Given the description of an element on the screen output the (x, y) to click on. 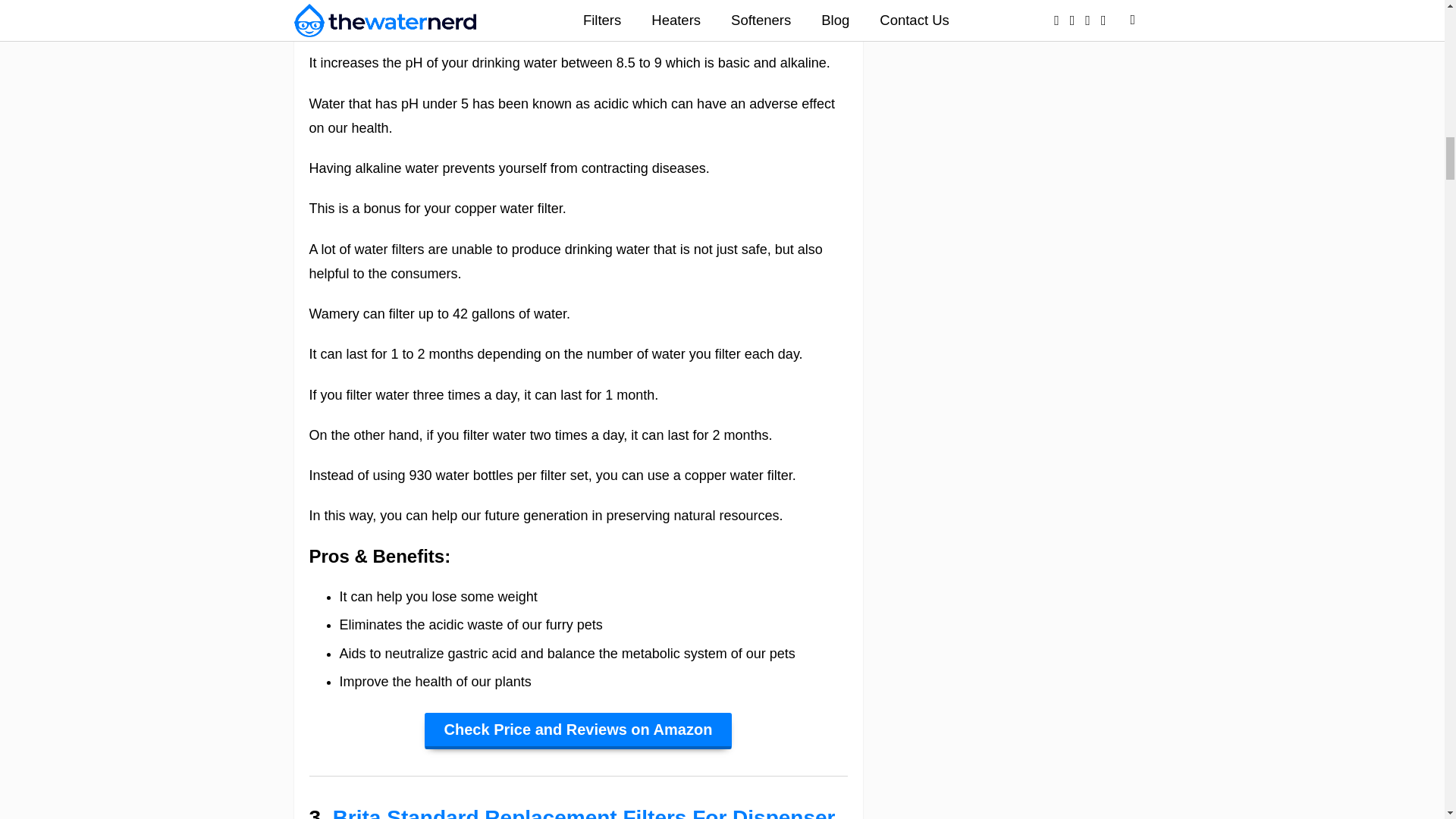
Check Price and Reviews on Amazon (578, 730)
Check Price and Reviews on Amazon (578, 730)
